Given the description of an element on the screen output the (x, y) to click on. 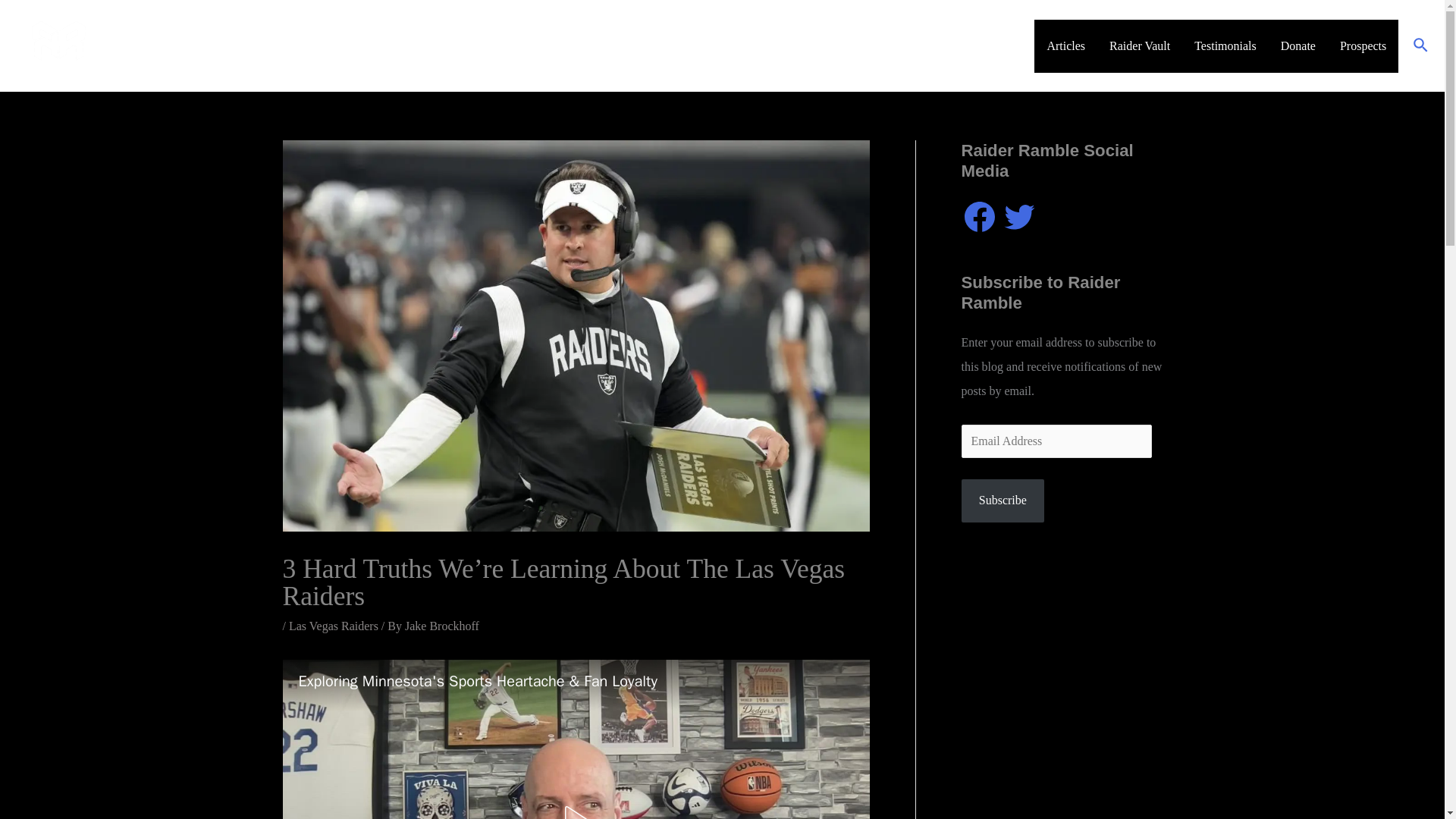
Las Vegas Raiders (333, 625)
Articles (1065, 45)
Donate (1297, 45)
Testimonials (1225, 45)
Prospects (1362, 45)
Raider Vault (1139, 45)
View all posts by Jake Brockhoff (441, 625)
Jake Brockhoff (441, 625)
